Given the description of an element on the screen output the (x, y) to click on. 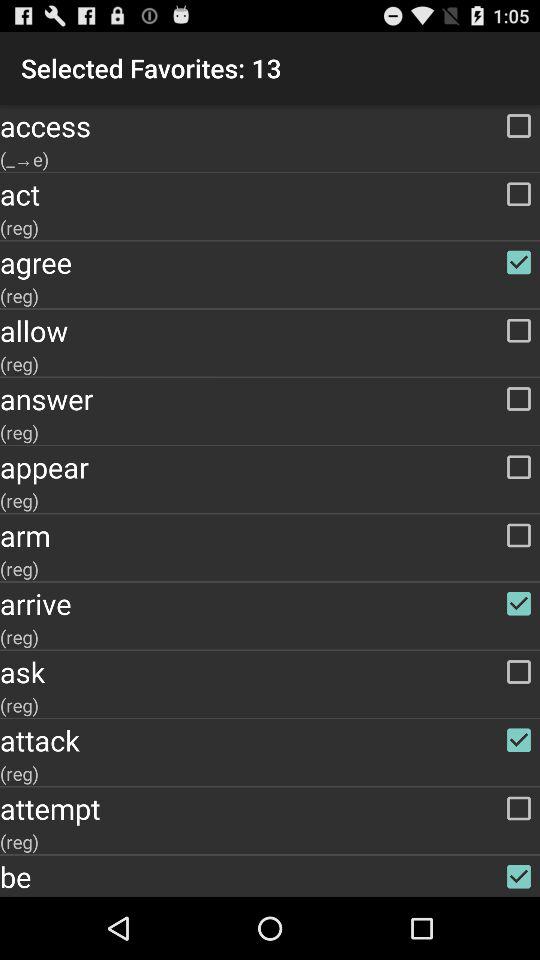
click the arrive icon (270, 603)
